Given the description of an element on the screen output the (x, y) to click on. 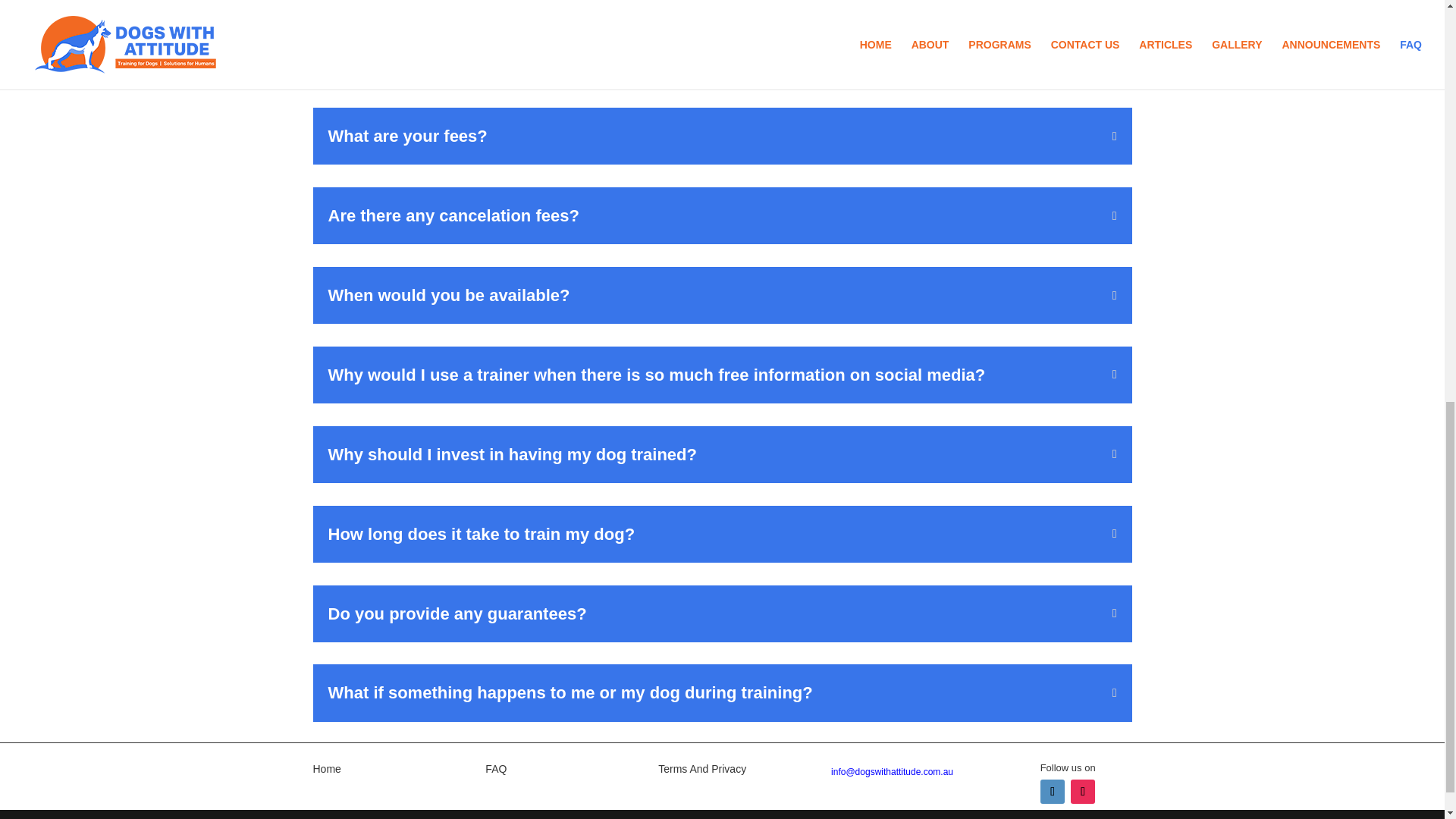
Follow on Instagram (1082, 791)
Follow on Facebook (1052, 791)
